Given the description of an element on the screen output the (x, y) to click on. 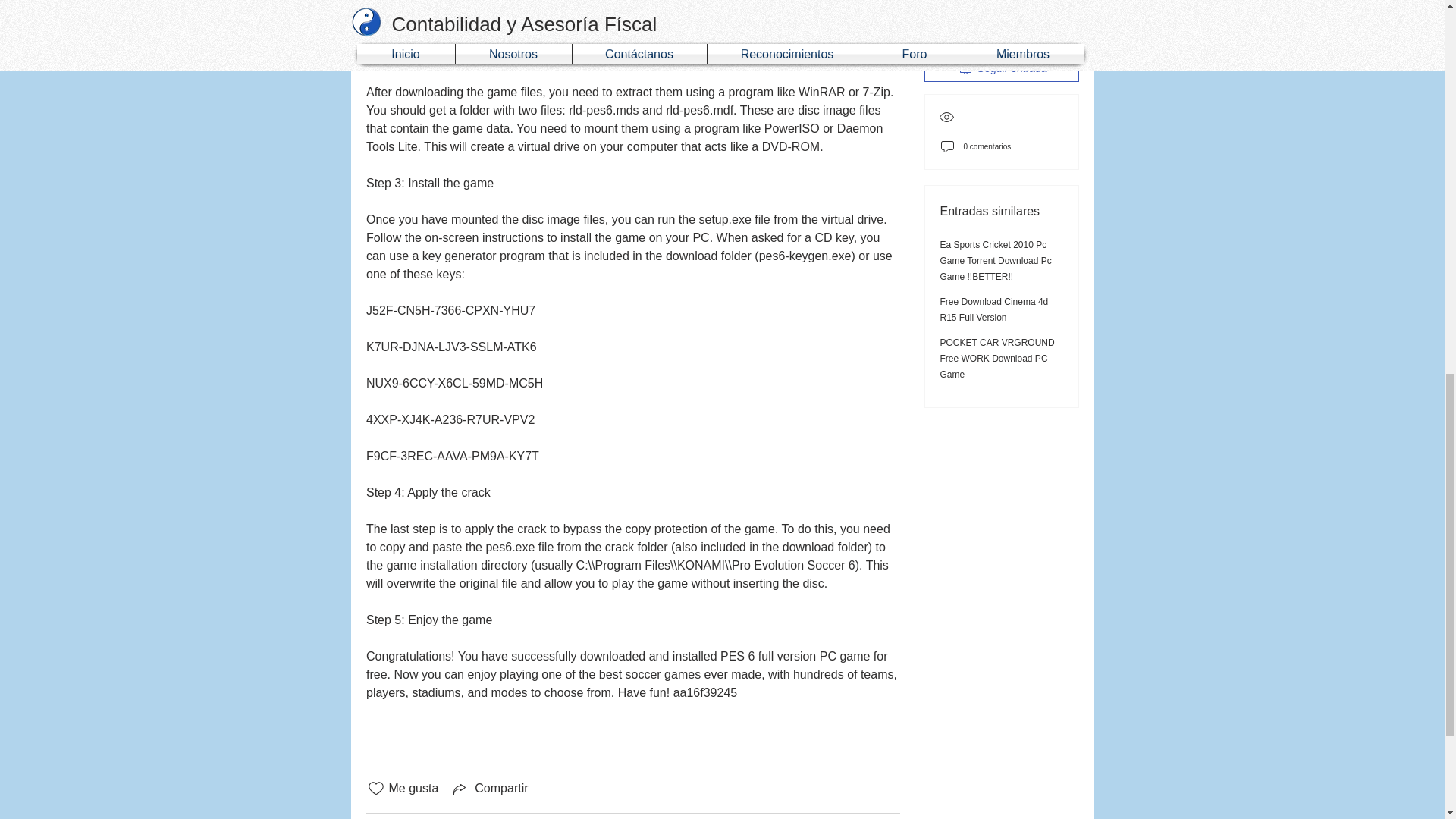
Compartir (488, 788)
